Given the description of an element on the screen output the (x, y) to click on. 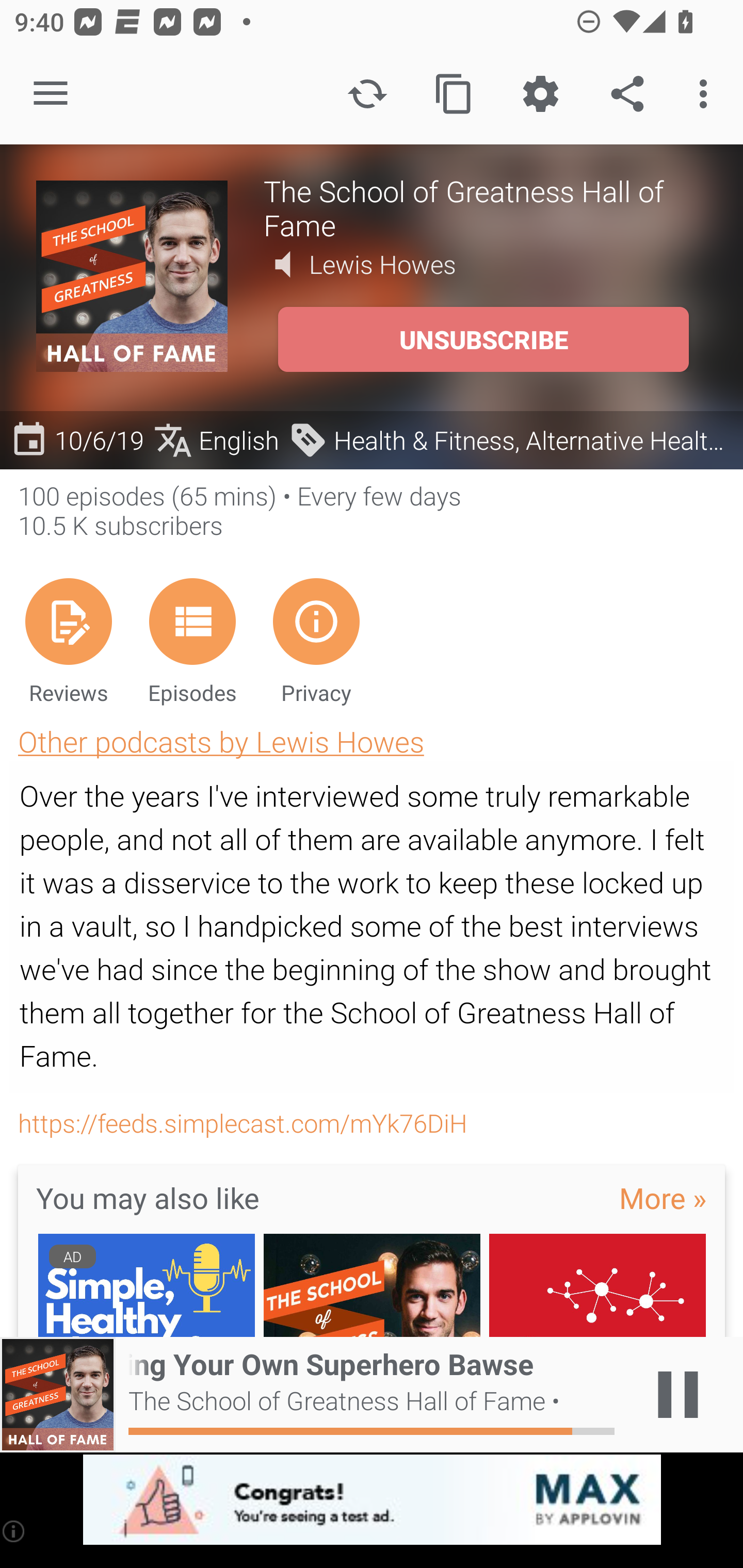
Open navigation sidebar (50, 93)
Refresh podcast description (366, 93)
Copy feed url to clipboard (453, 93)
Custom Settings (540, 93)
Share the podcast (626, 93)
More options (706, 93)
The School of Greatness Hall of Fame (484, 207)
Lewis Howes (382, 263)
UNSUBSCRIBE (482, 339)
Reviews (68, 640)
Episodes (192, 640)
Privacy (315, 640)
Other podcasts by Lewis Howes (220, 740)
More » (662, 1196)
Play / Pause (677, 1394)
app-monetization (371, 1500)
(i) (14, 1531)
